Given the description of an element on the screen output the (x, y) to click on. 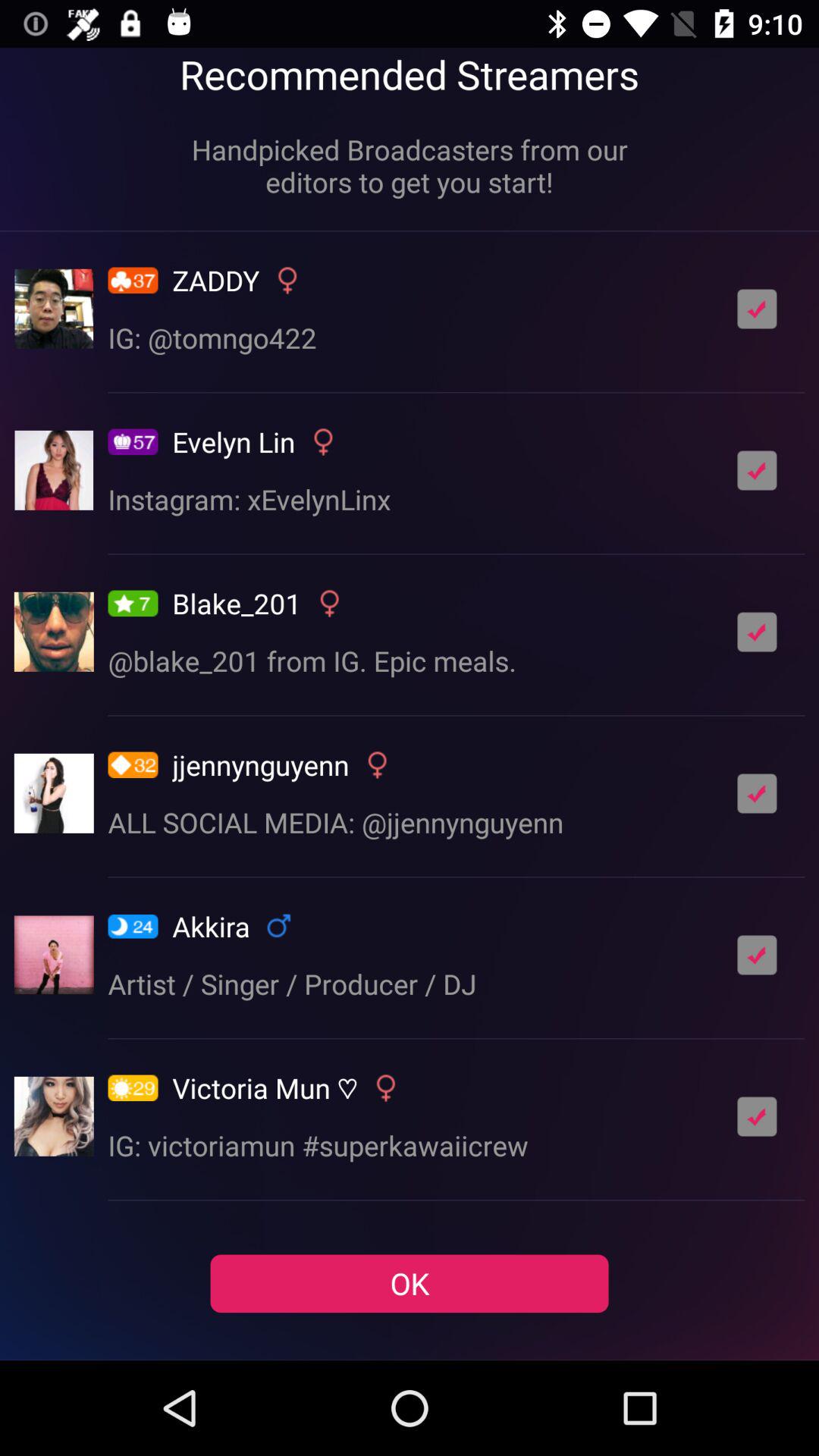
scroll to ok (409, 1283)
